Given the description of an element on the screen output the (x, y) to click on. 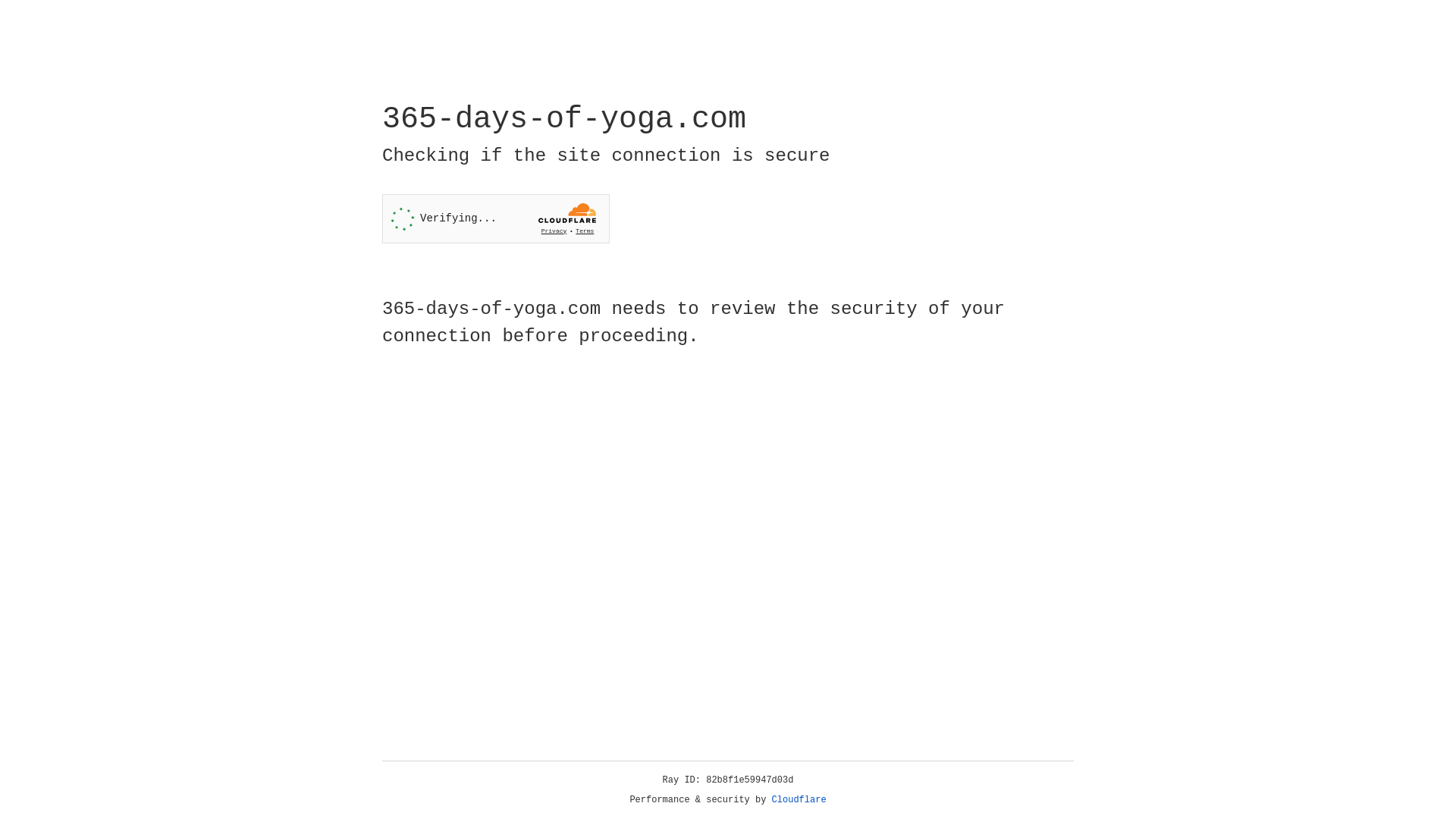
Cloudflare Element type: text (798, 799)
Widget containing a Cloudflare security challenge Element type: hover (495, 218)
